Given the description of an element on the screen output the (x, y) to click on. 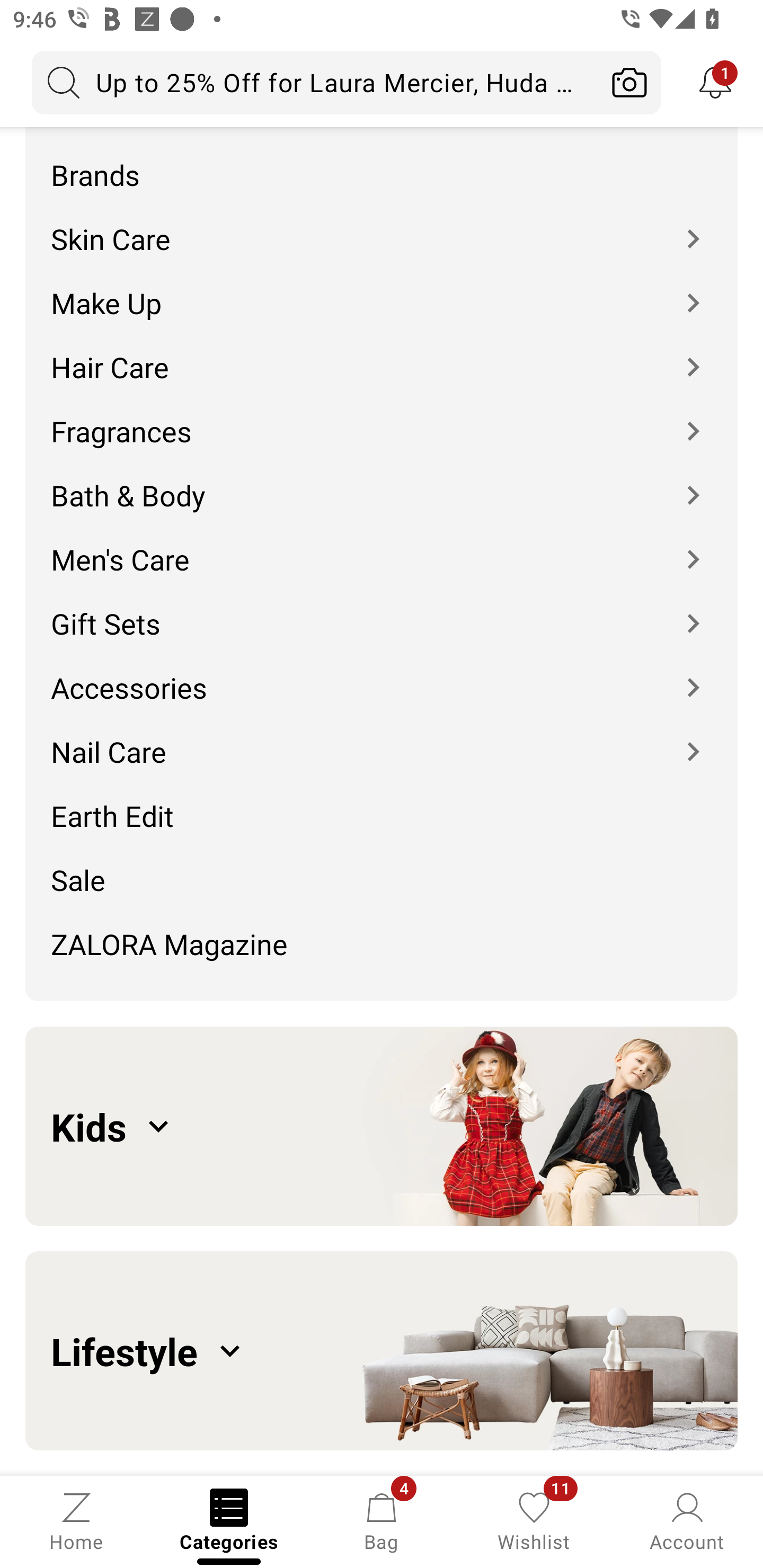
New Arrivals (381, 128)
Brands (381, 162)
Skin Care (381, 226)
Make Up (381, 289)
Hair Care (381, 353)
Fragrances (381, 417)
Bath & Body (381, 482)
Men's Care (381, 546)
Gift Sets (381, 610)
Accessories (381, 674)
Nail Care (381, 739)
Earth Edit (381, 802)
Sale (381, 866)
ZALORA Magazine (381, 949)
Kids (381, 1126)
Lifestyle (381, 1350)
Home (76, 1519)
Bag, 4 new notifications Bag (381, 1519)
Wishlist, 11 new notifications Wishlist (533, 1519)
Account (686, 1519)
